Given the description of an element on the screen output the (x, y) to click on. 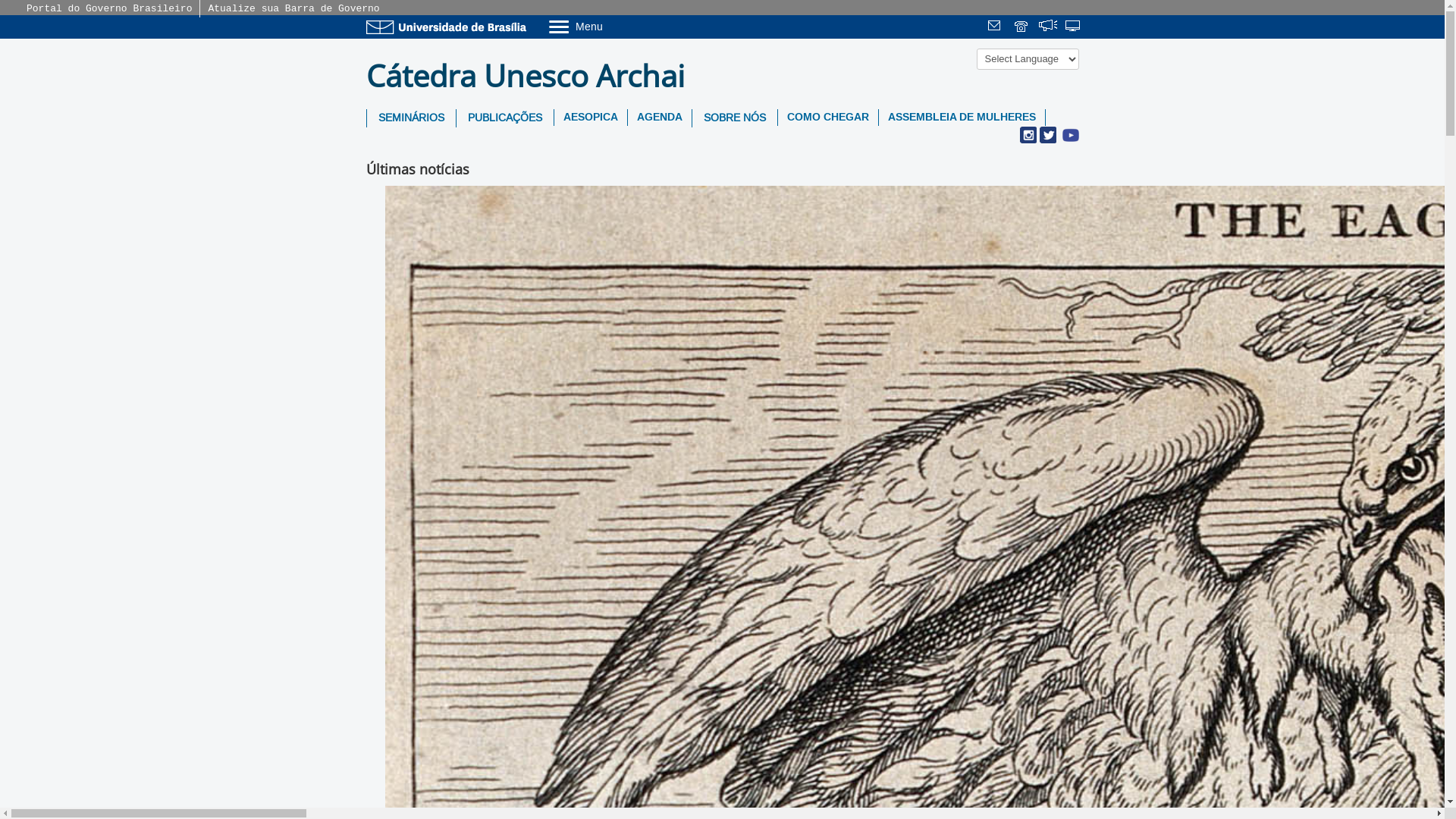
Sistemas Element type: hover (1073, 27)
  Element type: text (996, 27)
Atualize sua Barra de Governo Element type: text (293, 8)
Telefones da UnB Element type: hover (1022, 27)
COMO CHEGAR Element type: text (828, 117)
  Element type: text (1073, 27)
  Element type: text (1022, 27)
AGENDA Element type: text (659, 117)
  Element type: text (1047, 27)
Webmail Element type: hover (996, 27)
Menu Element type: text (613, 25)
Fala.BR Element type: hover (1047, 27)
Ir para o Portal da UnB Element type: hover (448, 26)
Portal do Governo Brasileiro Element type: text (108, 8)
ASSEMBLEIA DE MULHERES Element type: text (961, 117)
AESOPICA Element type: text (589, 117)
